Given the description of an element on the screen output the (x, y) to click on. 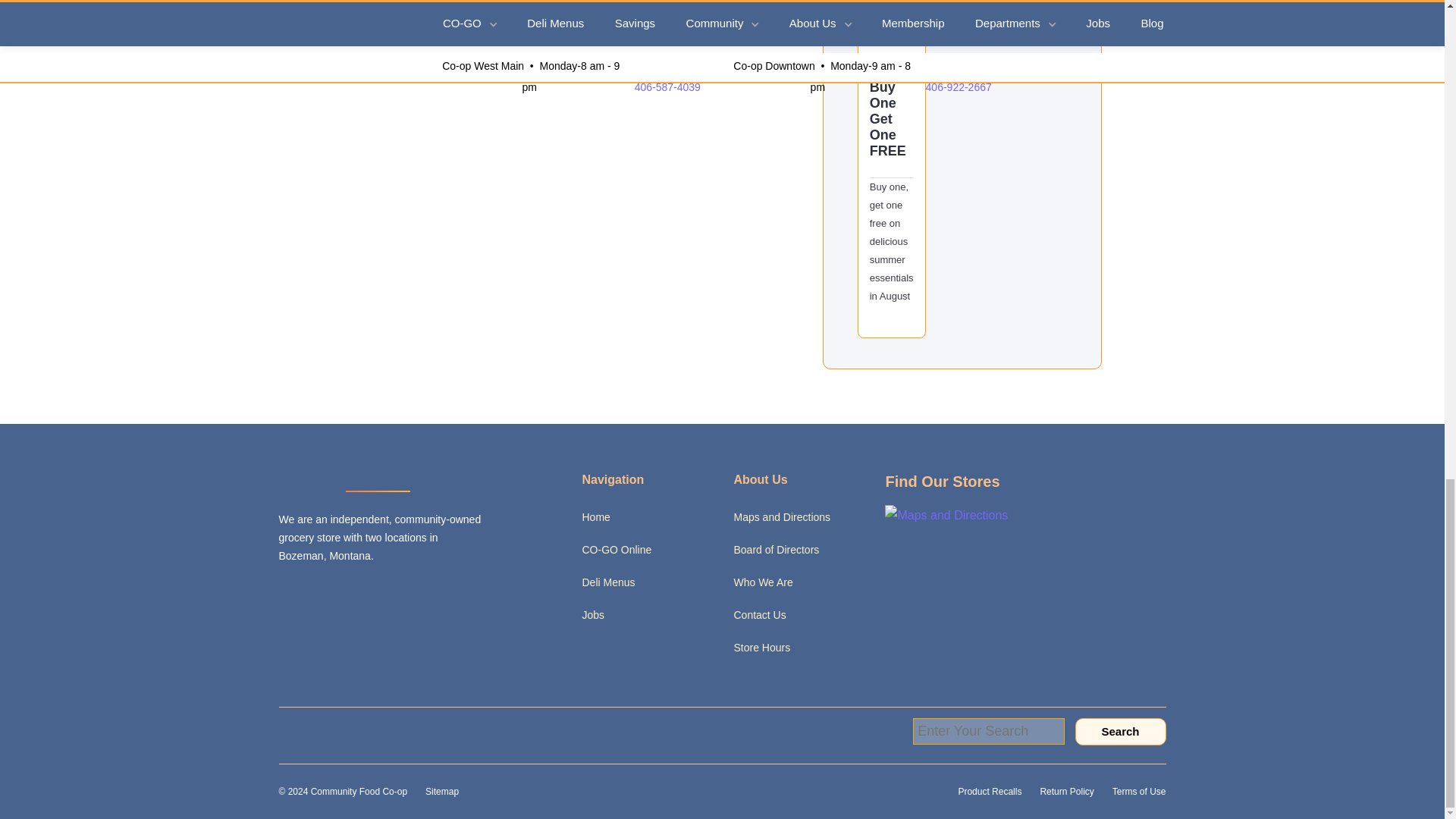
Locations of both stores (946, 513)
Co-op Facebook Page (322, 589)
Search (1120, 731)
Co-op Instagram Page (383, 589)
Co-op YouTube Page (443, 589)
Search (1120, 731)
